Given the description of an element on the screen output the (x, y) to click on. 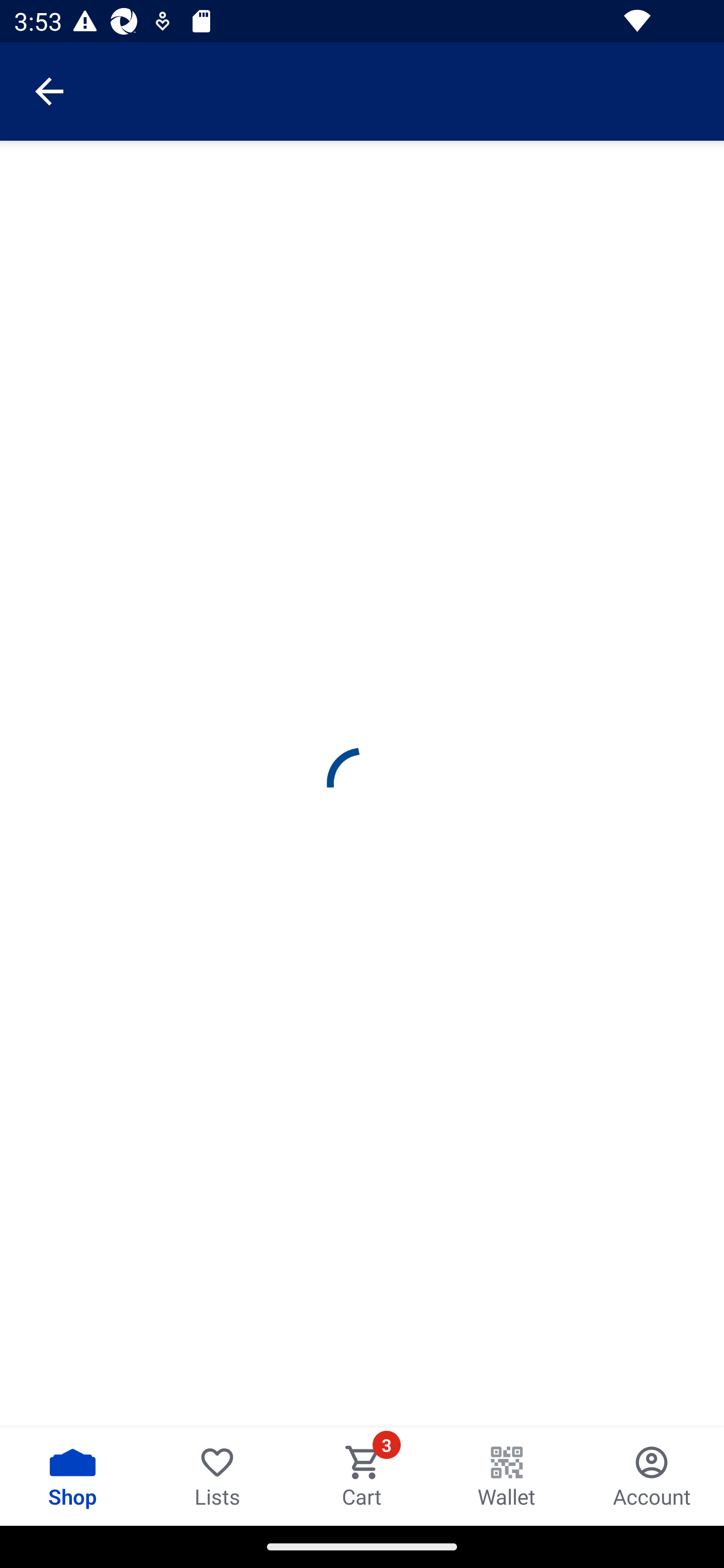
Navigate up (49, 91)
Lists (216, 1475)
Cart Cart 3 (361, 1475)
Wallet (506, 1475)
Account (651, 1475)
